Given the description of an element on the screen output the (x, y) to click on. 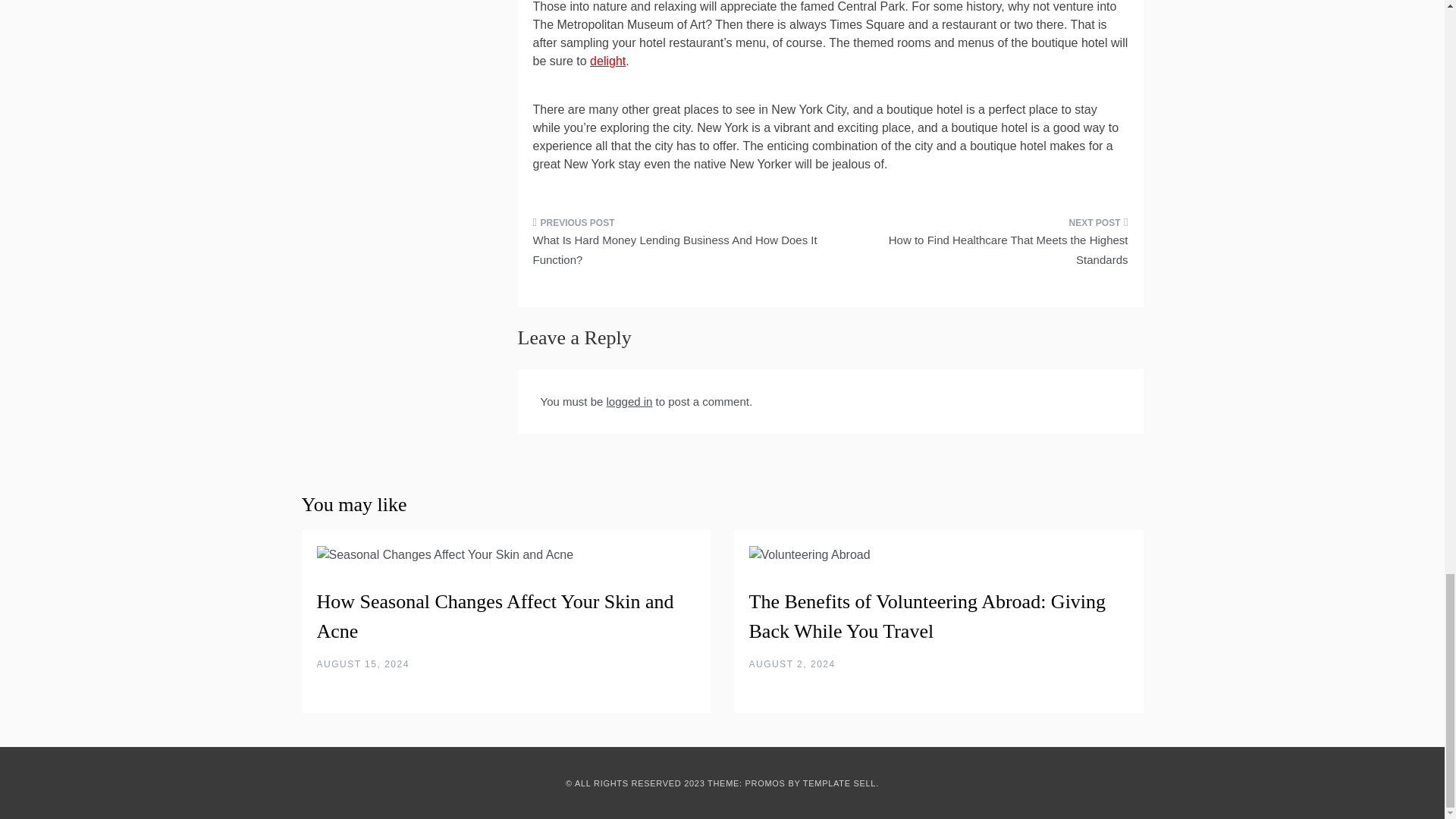
logged in (629, 400)
How to Find Healthcare That Meets the Highest Standards (984, 245)
delight (607, 60)
How Seasonal Changes Affect Your Skin and Acne (495, 616)
